Given the description of an element on the screen output the (x, y) to click on. 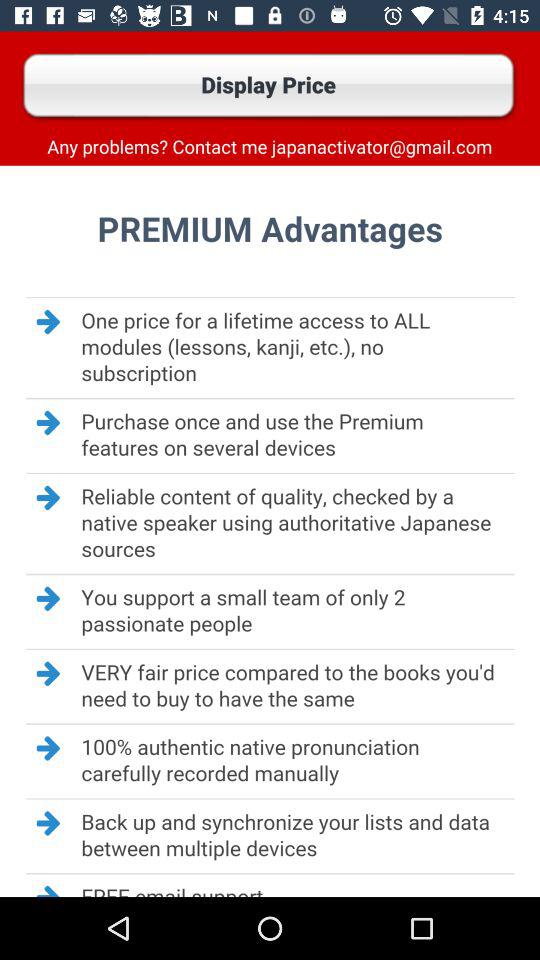
view advertisement (270, 531)
